Given the description of an element on the screen output the (x, y) to click on. 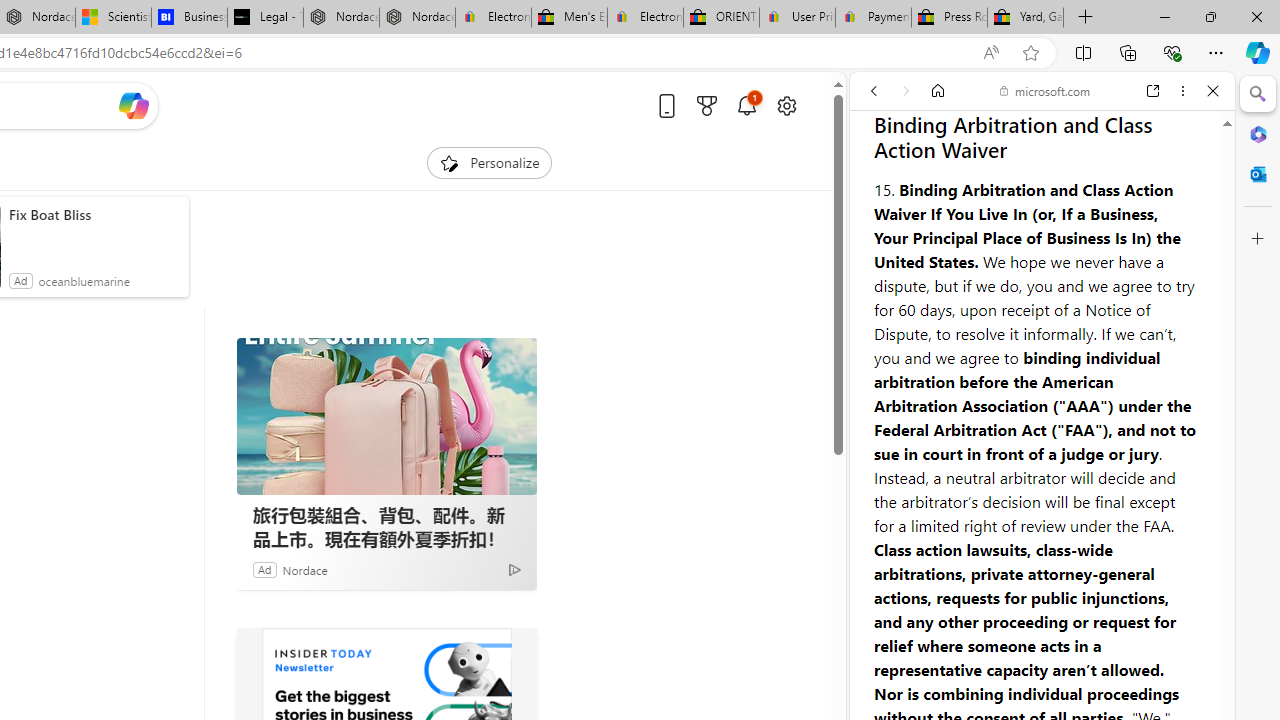
microsoft.com (1045, 90)
User Privacy Notice | eBay (797, 17)
Search the web (1051, 137)
Fix Boat Bliss (93, 214)
Customize (1258, 239)
